Given the description of an element on the screen output the (x, y) to click on. 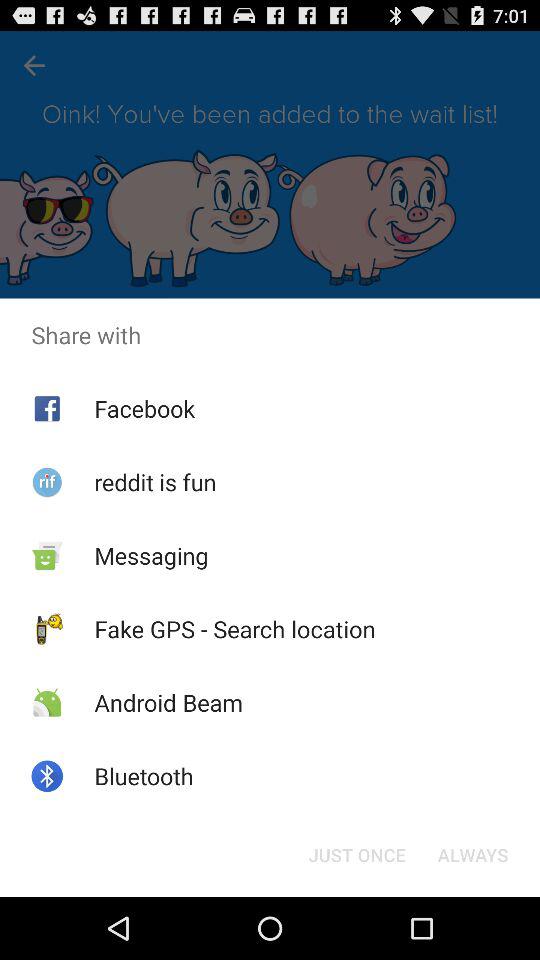
click the reddit is fun (155, 482)
